Given the description of an element on the screen output the (x, y) to click on. 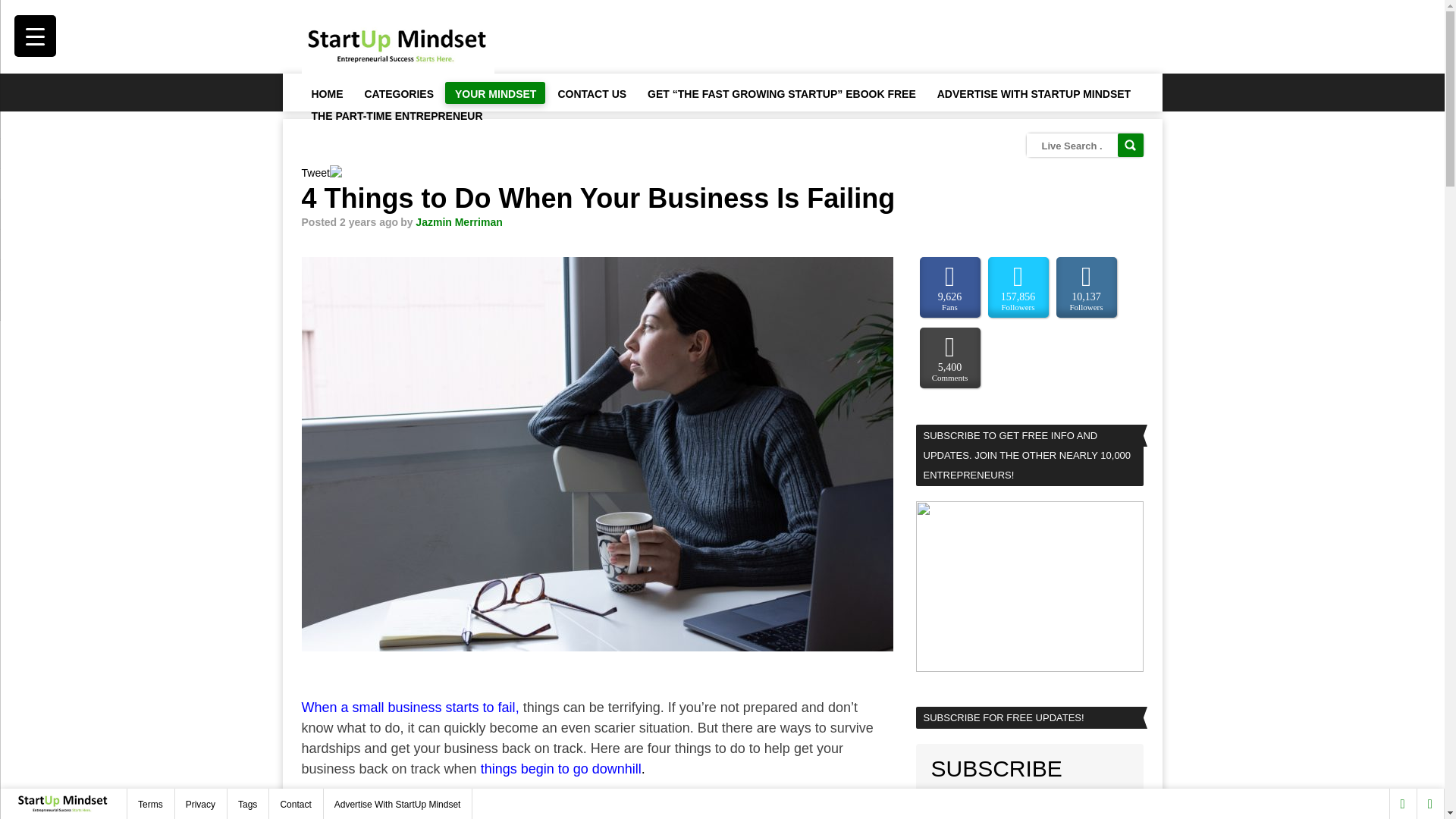
When a small business starts to fail (408, 707)
YOUR MINDSET (494, 92)
Search (1130, 145)
CONTACT US (590, 92)
HOME (326, 92)
Tweet (315, 173)
Search (1130, 145)
Jazmin Merriman (458, 222)
Posts by Jazmin Merriman (458, 222)
things begin to go downhill. (562, 768)
